Given the description of an element on the screen output the (x, y) to click on. 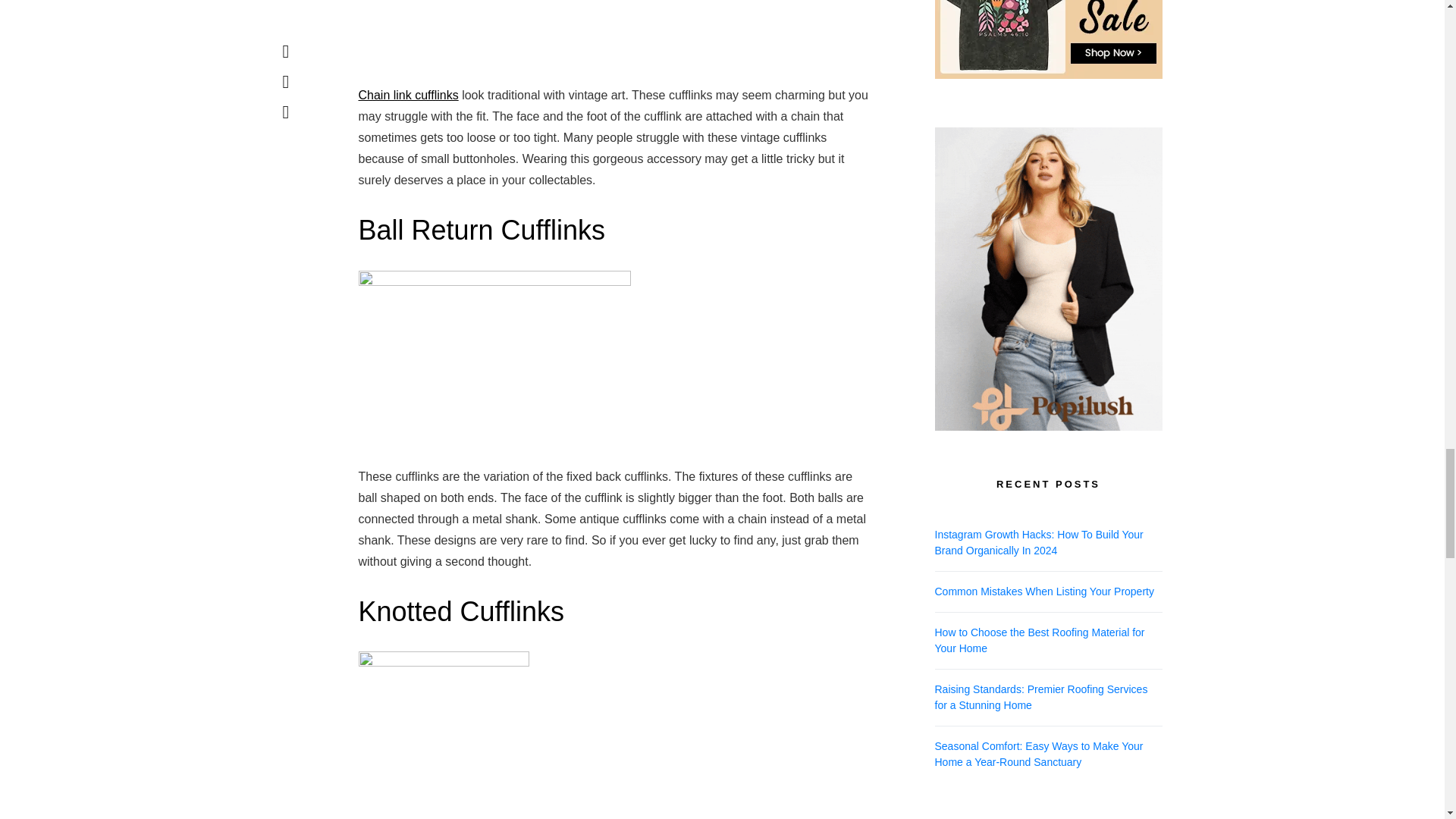
Chain link cufflinks (408, 94)
